Given the description of an element on the screen output the (x, y) to click on. 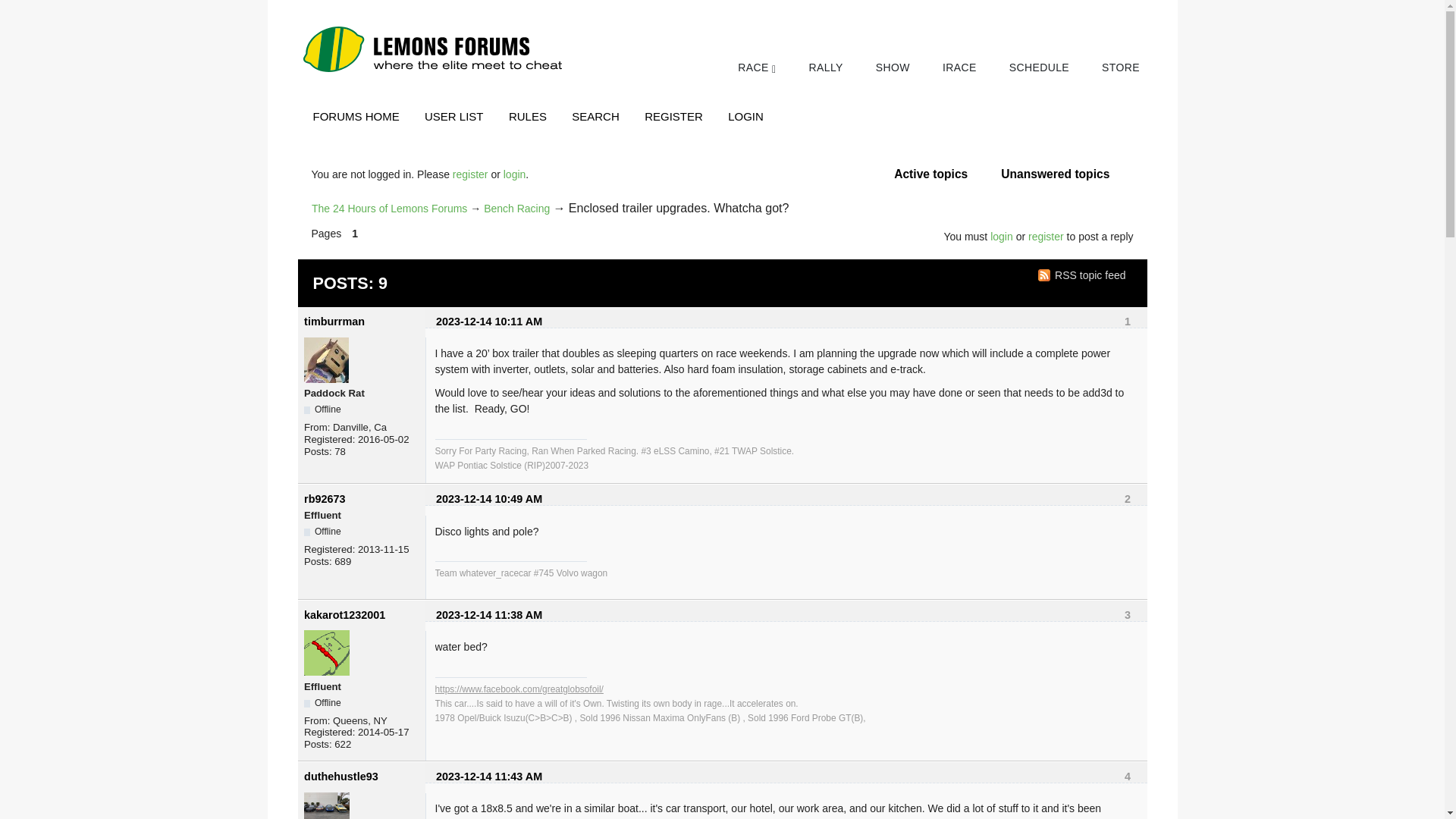
Permanent link to this post (488, 776)
Permanent link to this post (488, 499)
RULES (527, 115)
login (514, 174)
FORUMS HOME (355, 115)
register (469, 174)
USER LIST (454, 115)
Find topics which have not been replied to. (1055, 173)
Go to kakarot1232001's profile (344, 614)
RACE (756, 68)
IRACE (959, 67)
Go to rb92673's profile (324, 499)
Permanent link to this post (488, 321)
SEARCH (596, 115)
SCHEDULE (1038, 67)
